Given the description of an element on the screen output the (x, y) to click on. 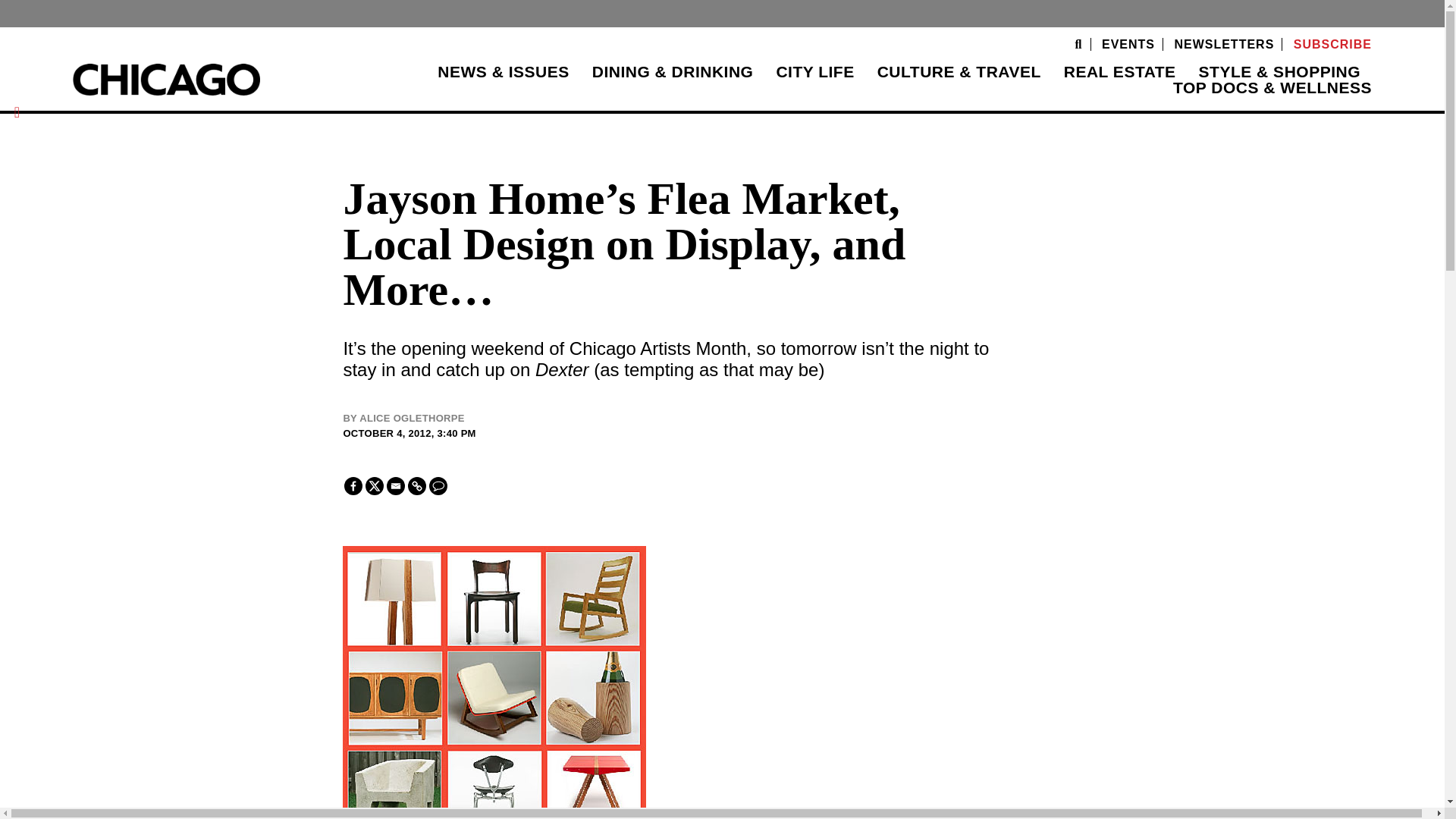
Copy Link (416, 485)
X (374, 485)
Email (395, 485)
comment (437, 485)
NEWSLETTERS (1224, 43)
Facebook (352, 485)
EVENTS (1128, 43)
